Given the description of an element on the screen output the (x, y) to click on. 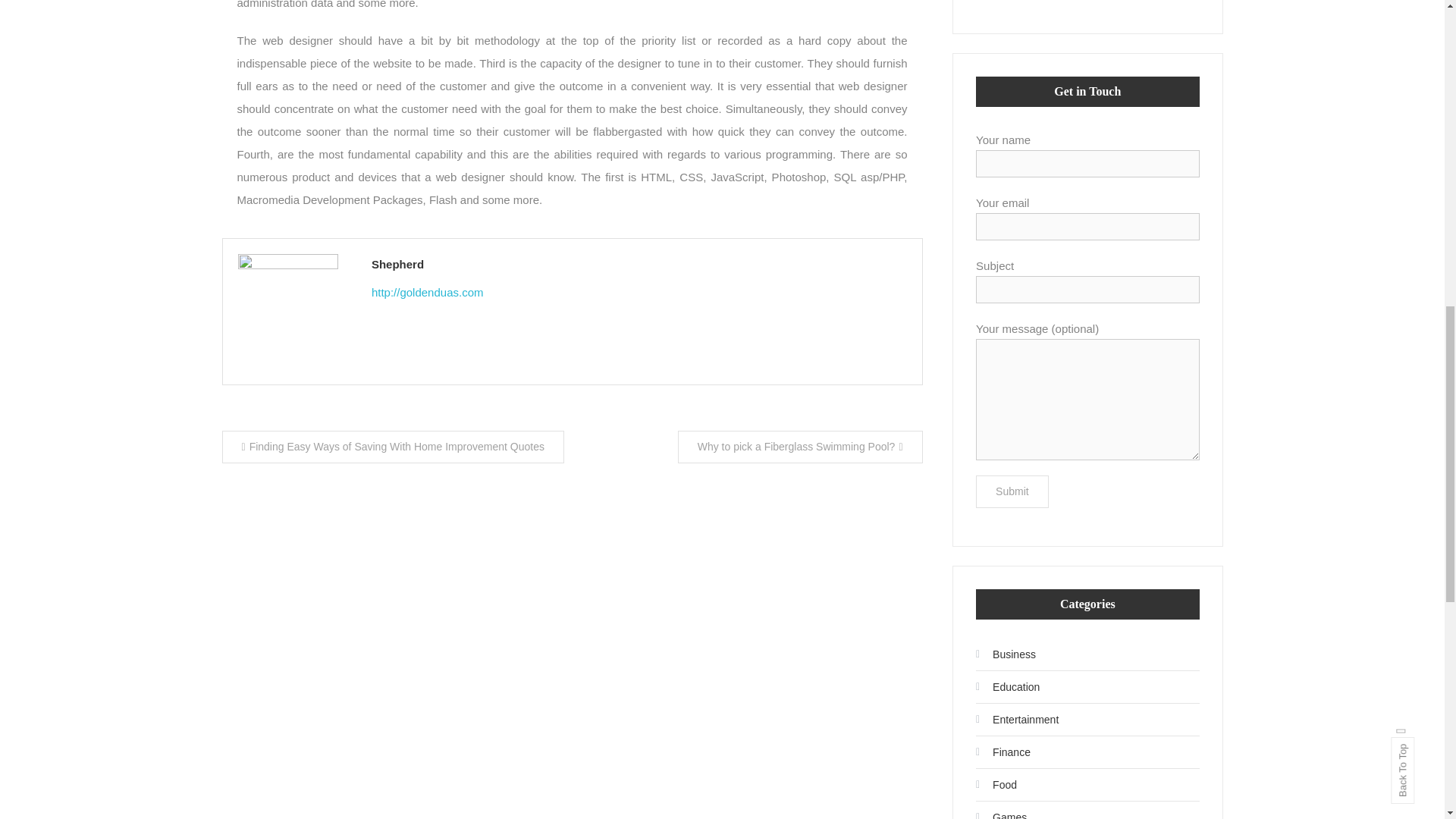
Why to pick a Fiberglass Swimming Pool? (800, 446)
Submit (1011, 491)
Finance (1002, 752)
Submit (1011, 491)
Shepherd (639, 263)
Business (1005, 654)
Finding Easy Ways of Saving With Home Improvement Quotes (392, 446)
Food (995, 784)
Games (1000, 812)
Entertainment (1016, 719)
Education (1007, 686)
